Given the description of an element on the screen output the (x, y) to click on. 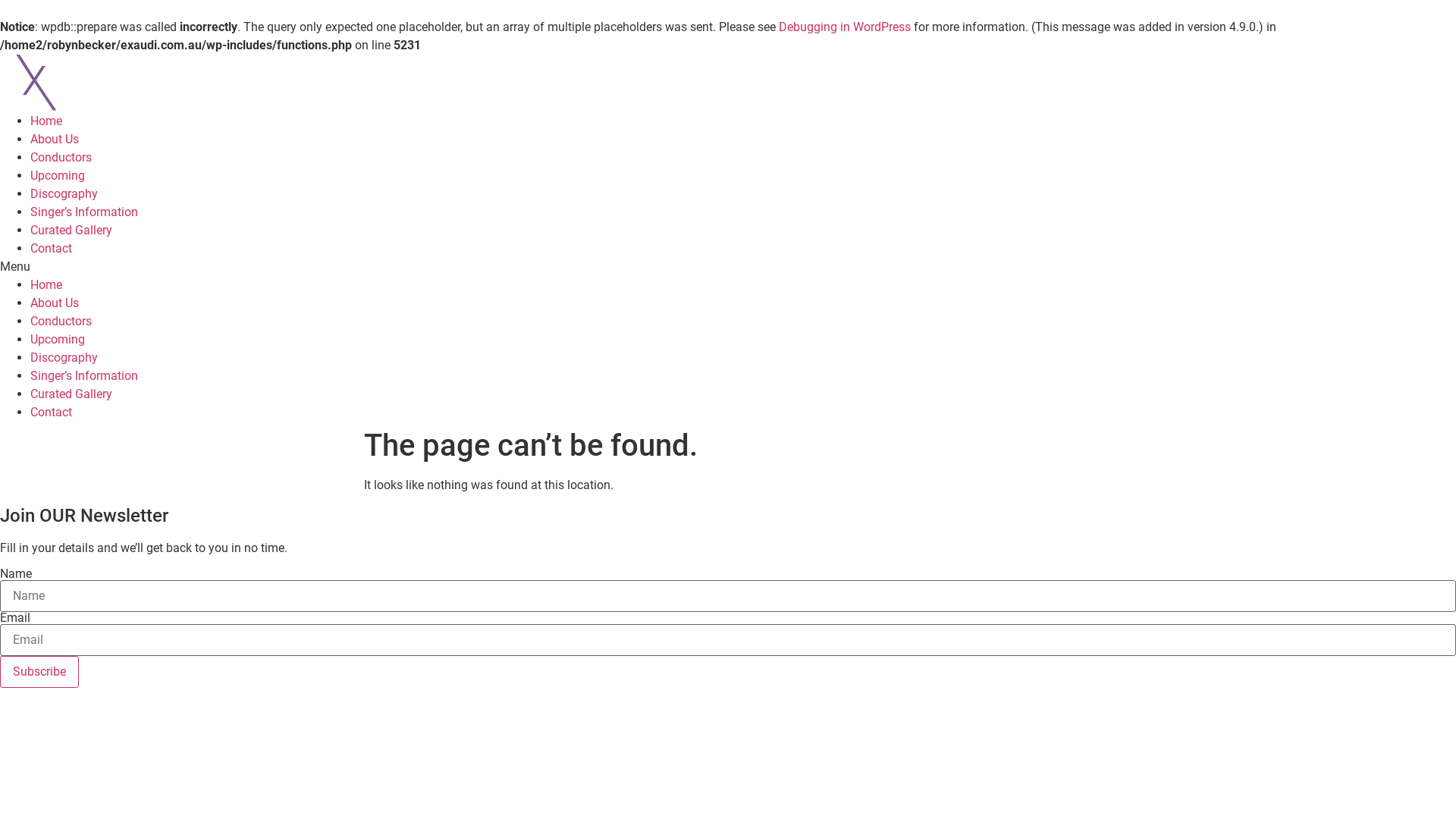
Conductors Element type: text (60, 320)
About Us Element type: text (54, 302)
Conductors Element type: text (60, 157)
Upcoming Element type: text (57, 175)
Discography Element type: text (63, 357)
Discography Element type: text (63, 193)
Home Element type: text (46, 284)
Curated Gallery Element type: text (71, 393)
About Us Element type: text (54, 138)
Debugging in WordPress Element type: text (844, 26)
Contact Element type: text (51, 411)
Contact Element type: text (51, 248)
Curated Gallery Element type: text (71, 229)
Subscribe Element type: text (39, 671)
Upcoming Element type: text (57, 339)
Home Element type: text (46, 120)
